Given the description of an element on the screen output the (x, y) to click on. 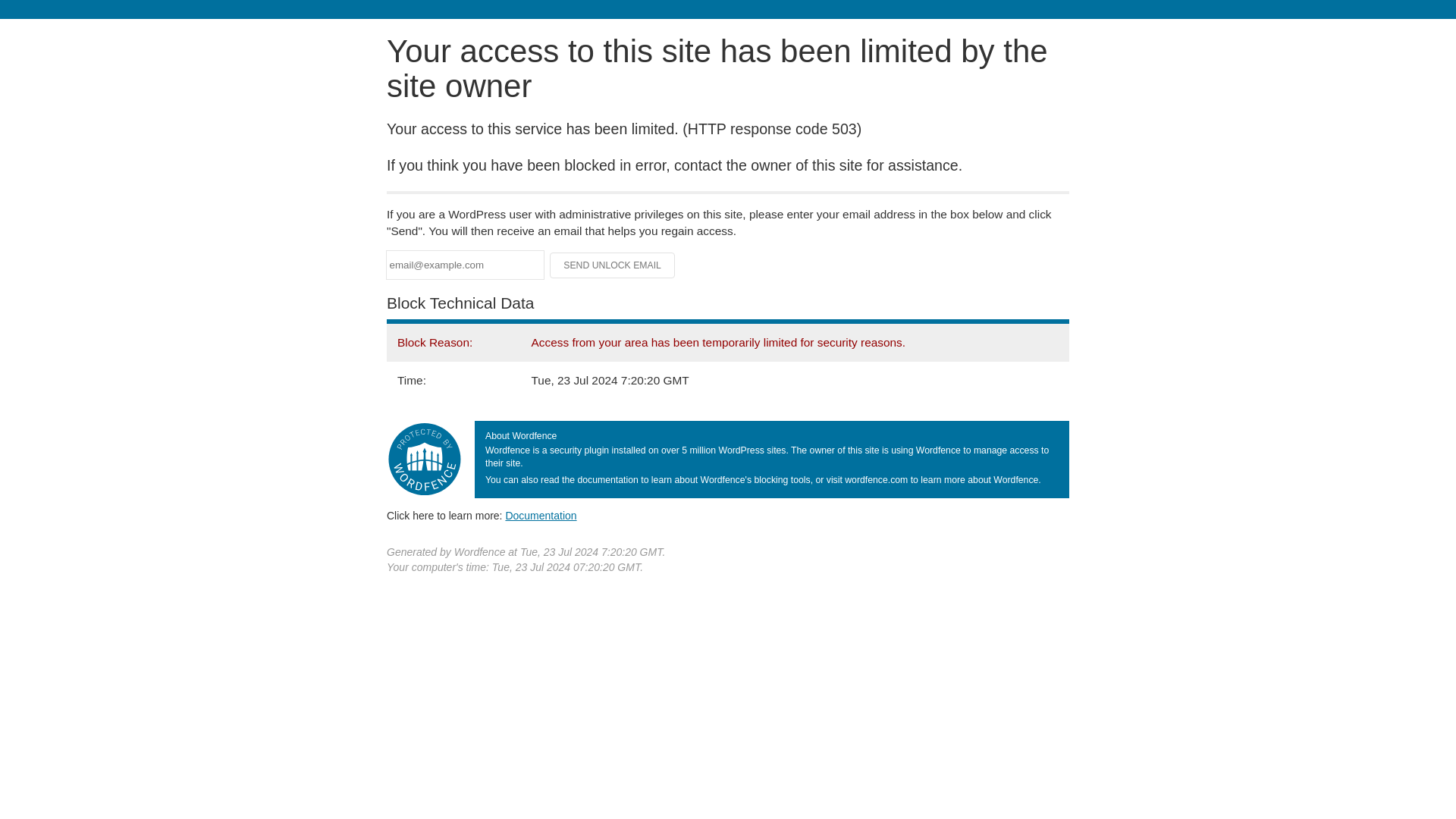
Send Unlock Email (612, 265)
Send Unlock Email (612, 265)
Documentation (540, 515)
